Given the description of an element on the screen output the (x, y) to click on. 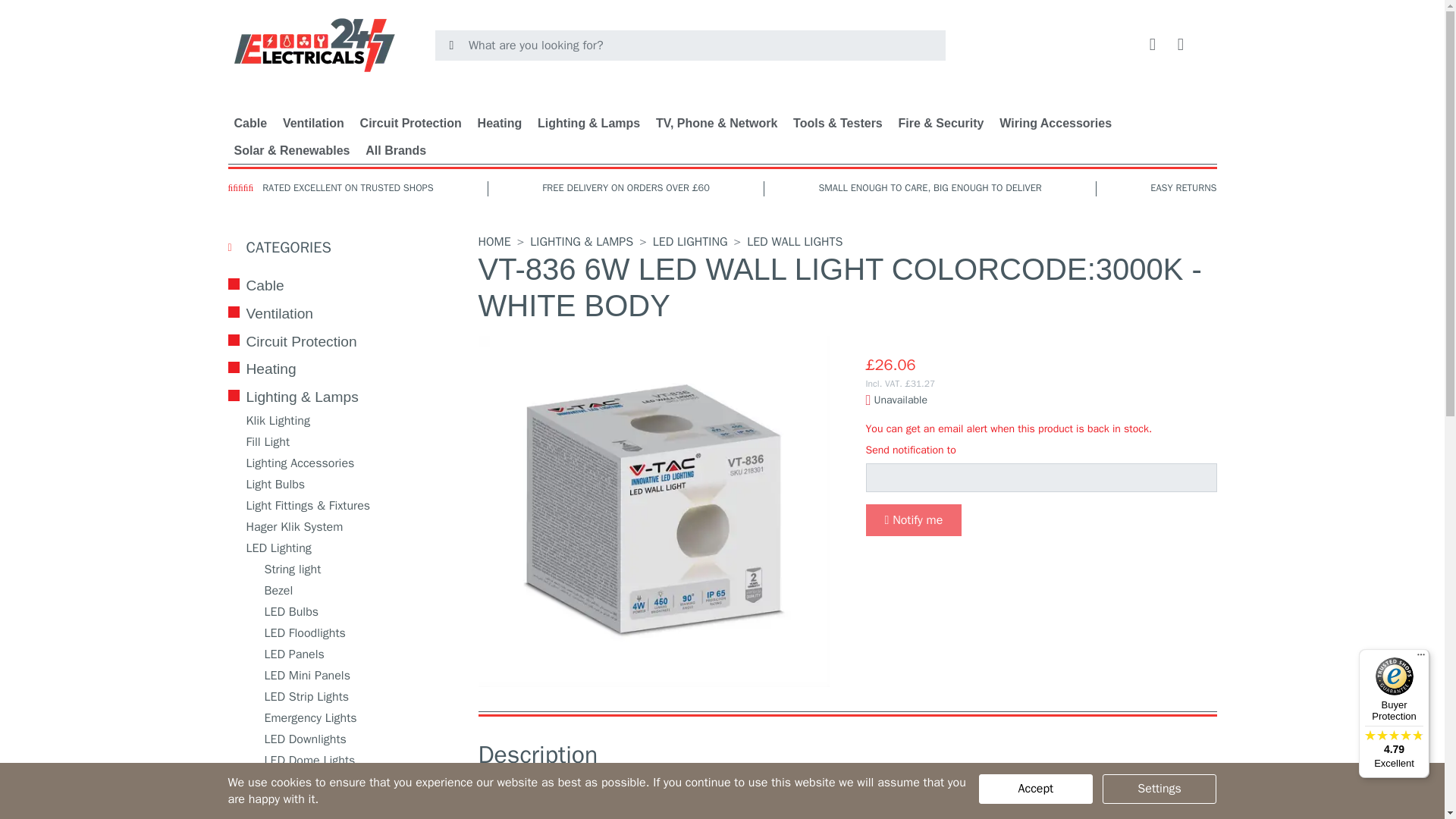
Ventilation (313, 121)
Cable (250, 121)
